Given the description of an element on the screen output the (x, y) to click on. 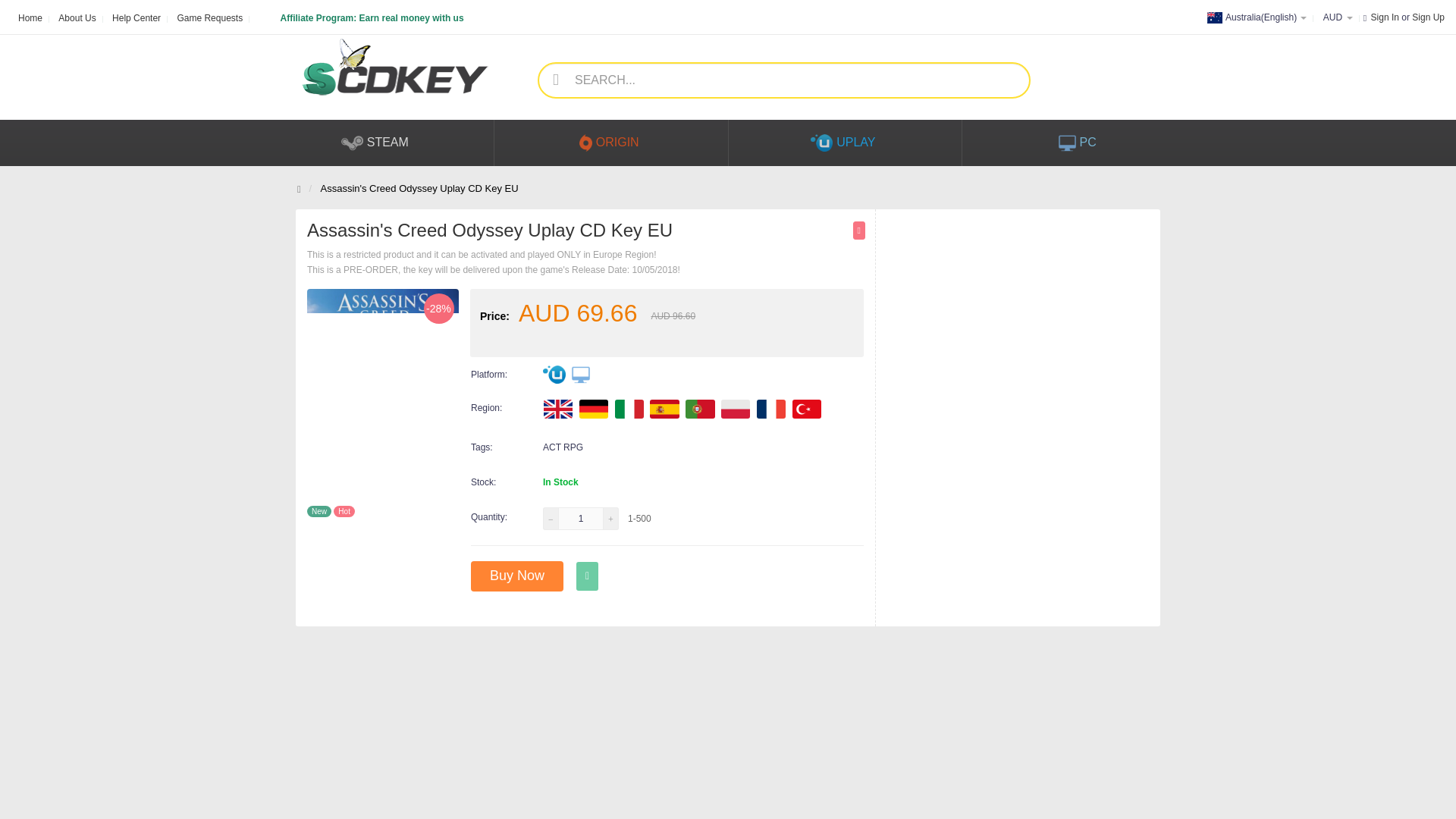
UPLAY (554, 374)
Affiliate program: (361, 11)
1 (580, 517)
Game Requests (209, 15)
About Us (77, 15)
Sign Up (1428, 17)
UPLAY (845, 142)
PC (1078, 142)
Sign In (1385, 17)
PC (580, 374)
